Given the description of an element on the screen output the (x, y) to click on. 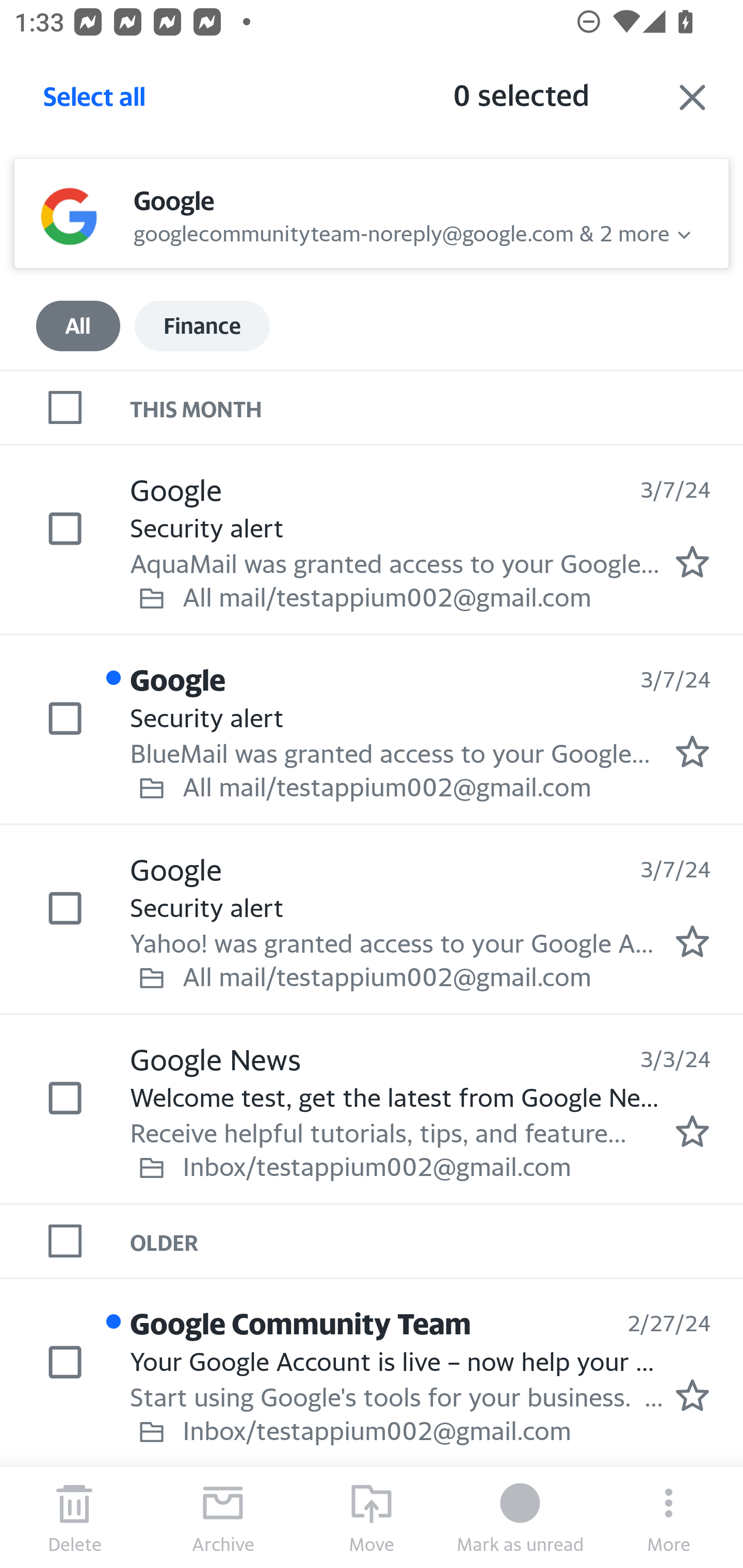
Exit selection mode (692, 97)
Select all (94, 101)
googlecommunityteam-noreply@google.com & 2 more (401, 231)
All (78, 326)
Finance (201, 326)
THIS MONTH (436, 406)
Mark as starred. (692, 562)
Mark as starred. (692, 751)
Mark as starred. (692, 941)
Mark as starred. (692, 1131)
OLDER (436, 1240)
Mark as starred. (692, 1394)
Delete (74, 1517)
Archive (222, 1517)
Move (371, 1517)
Mark as unread (519, 1517)
More (668, 1517)
